Given the description of an element on the screen output the (x, y) to click on. 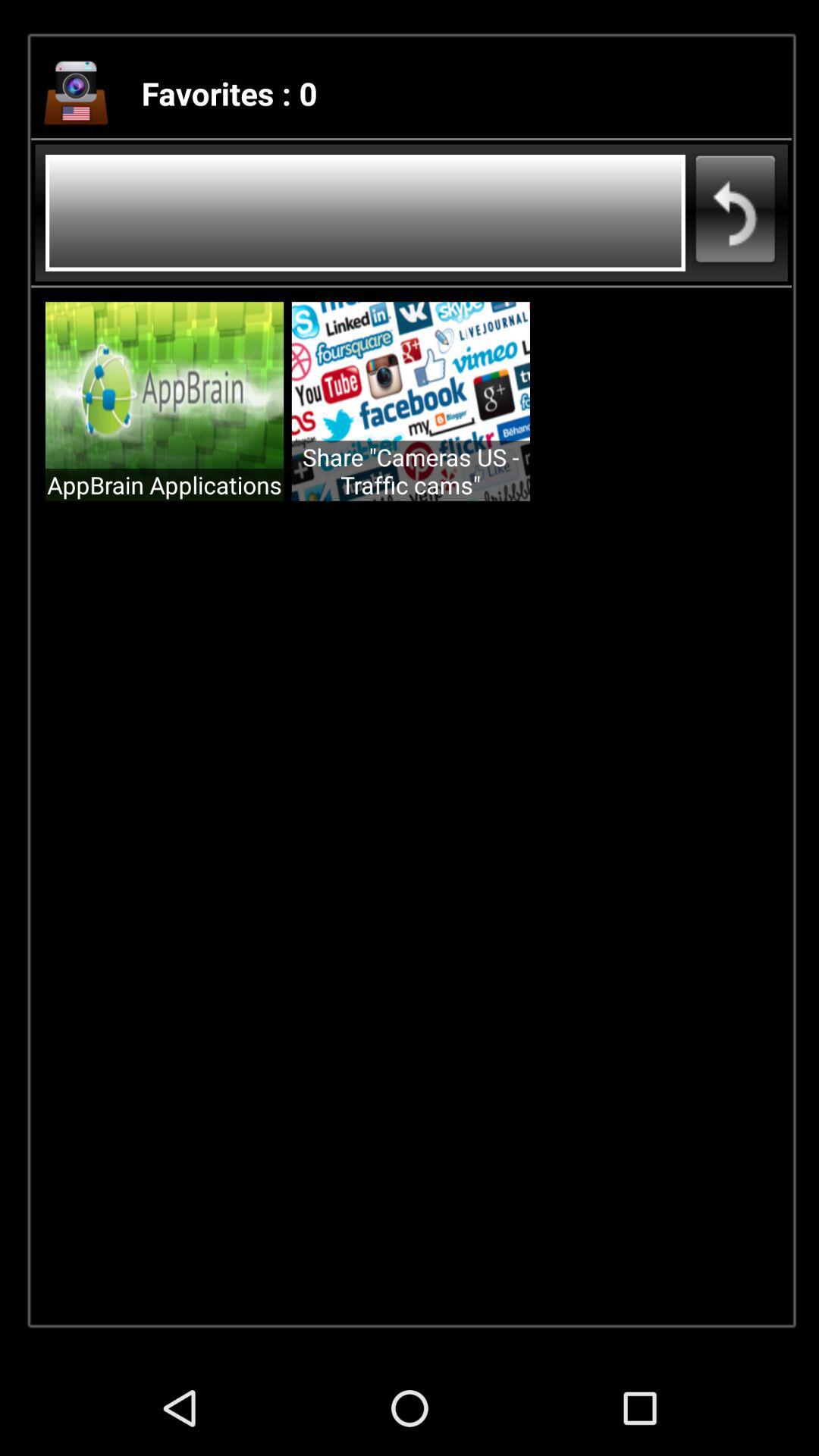
open the appbrain applications item (164, 484)
